Given the description of an element on the screen output the (x, y) to click on. 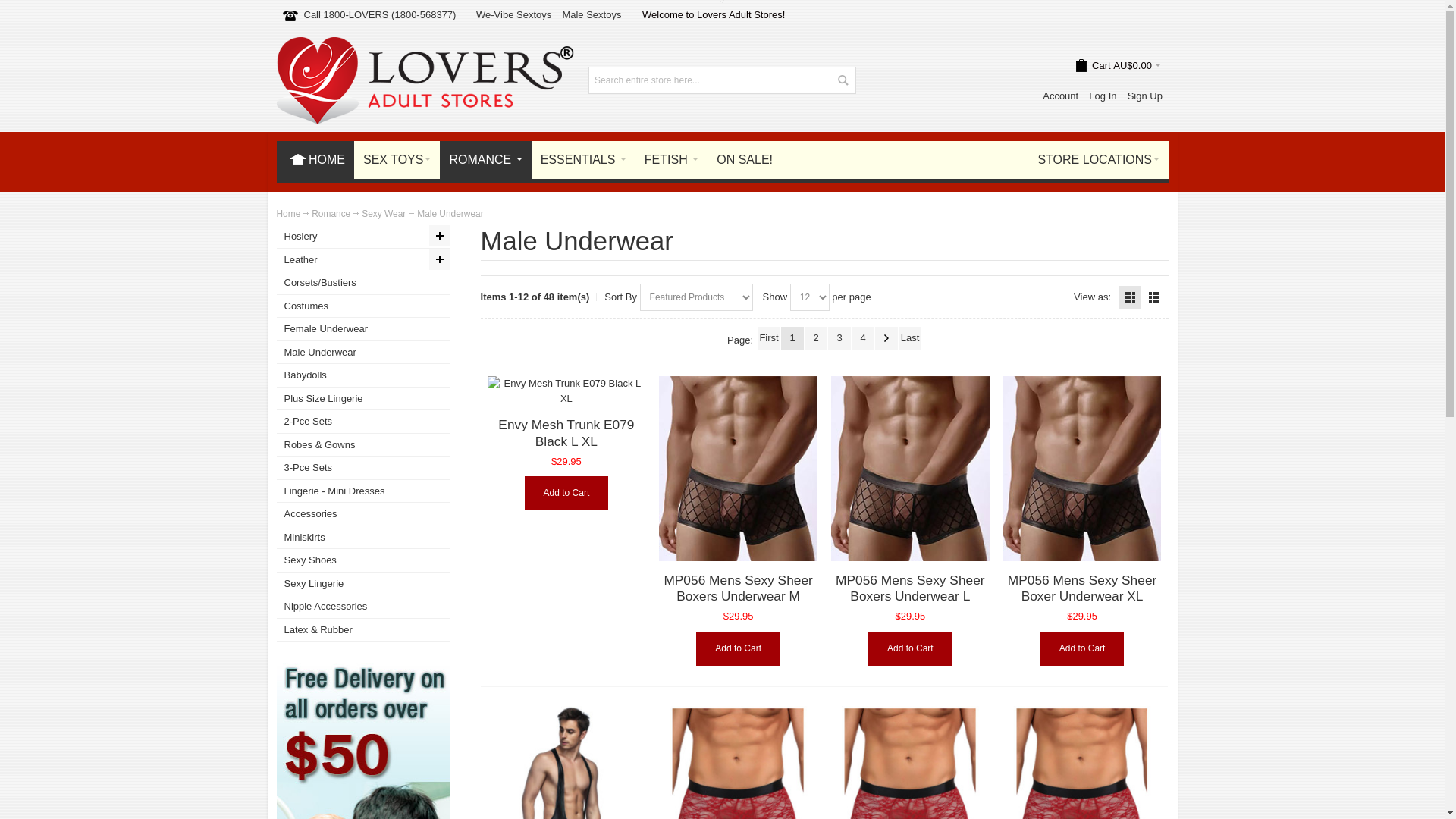
2-Pce Sets Element type: text (363, 421)
MP056 Mens Sexy Sheer Boxers Underwear M Element type: text (737, 588)
ESSENTIALS Element type: text (582, 159)
MP056 Mens Sexy Sheer Boxers Underwear L Element type: text (909, 588)
Add to Cart Element type: text (910, 648)
Call 1800-LOVERS (1800-568377) Element type: text (379, 14)
Female Underwear Element type: text (363, 329)
SEX TOYS Element type: text (396, 159)
List Element type: text (1153, 296)
ON SALE! Element type: text (744, 159)
Next Element type: text (886, 337)
MP056 Mens Sexy Sheer Boxer Underwear XL Element type: hover (1082, 468)
Male Underwear Element type: text (363, 352)
Add to Cart Element type: text (566, 493)
Corsets/Bustiers Element type: text (363, 282)
ROMANCE Element type: text (484, 159)
HOME Element type: text (314, 159)
Sexy Wear Element type: text (383, 214)
4 Element type: text (862, 337)
Search Element type: hover (842, 80)
Robes & Gowns Element type: text (363, 445)
Miniskirts Element type: text (363, 537)
First Element type: text (768, 337)
Male Sextoys Element type: text (591, 14)
Lovers Adult Stores Element type: hover (424, 44)
Add to Cart Element type: text (738, 648)
MP056 Mens Sexy Sheer Boxers Underwear L Element type: hover (910, 468)
Costumes Element type: text (363, 306)
Home Element type: text (288, 214)
2 Element type: text (815, 337)
3 Element type: text (839, 337)
Romance Element type: text (330, 214)
Latex & Rubber Element type: text (363, 630)
We-Vibe Sextoys Element type: text (513, 14)
STORE LOCATIONS Element type: text (1098, 159)
Sign Up Element type: text (1144, 95)
Babydolls Element type: text (363, 375)
Lingerie - Mini Dresses Element type: text (363, 491)
FETISH Element type: text (670, 159)
MP056 Mens Sexy Sheer Boxer Underwear XL Element type: text (1081, 588)
Sexy Lingerie Element type: text (363, 584)
Envy Mesh Trunk E079 Black L XL Element type: text (565, 432)
3-Pce Sets Element type: text (363, 468)
MP056 Mens Sexy Sheer Boxers Underwear M Element type: hover (737, 468)
Plus Size Lingerie Element type: text (363, 399)
Nipple Accessories Element type: text (363, 606)
Hosiery Element type: text (363, 236)
Accessories Element type: text (363, 514)
Log In Element type: text (1102, 95)
Leather Element type: text (363, 260)
Add to Cart Element type: text (1082, 648)
Last Element type: text (909, 337)
Account Element type: text (1060, 95)
Envy Mesh Trunk E079 Black L XL Element type: hover (566, 390)
Sexy Shoes Element type: text (363, 560)
